Given the description of an element on the screen output the (x, y) to click on. 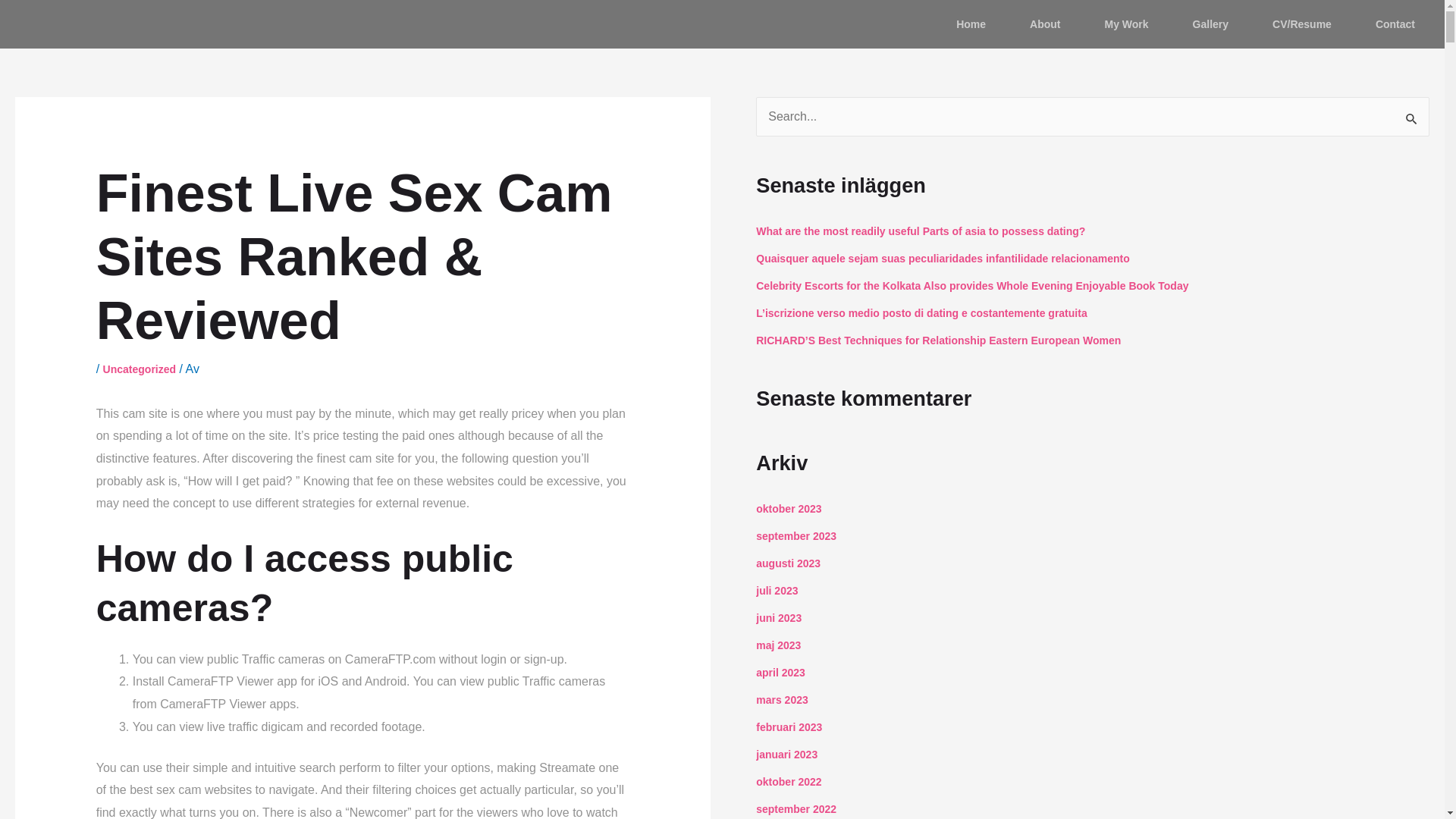
oktober 2022 (788, 781)
maj 2023 (777, 645)
My Work (1125, 23)
september 2023 (795, 535)
Gallery (1210, 23)
oktober 2023 (788, 508)
april 2023 (780, 672)
januari 2023 (785, 754)
februari 2023 (788, 727)
augusti 2023 (788, 563)
september 2022 (795, 808)
juni 2023 (778, 617)
juli 2023 (776, 590)
mars 2023 (781, 699)
